Given the description of an element on the screen output the (x, y) to click on. 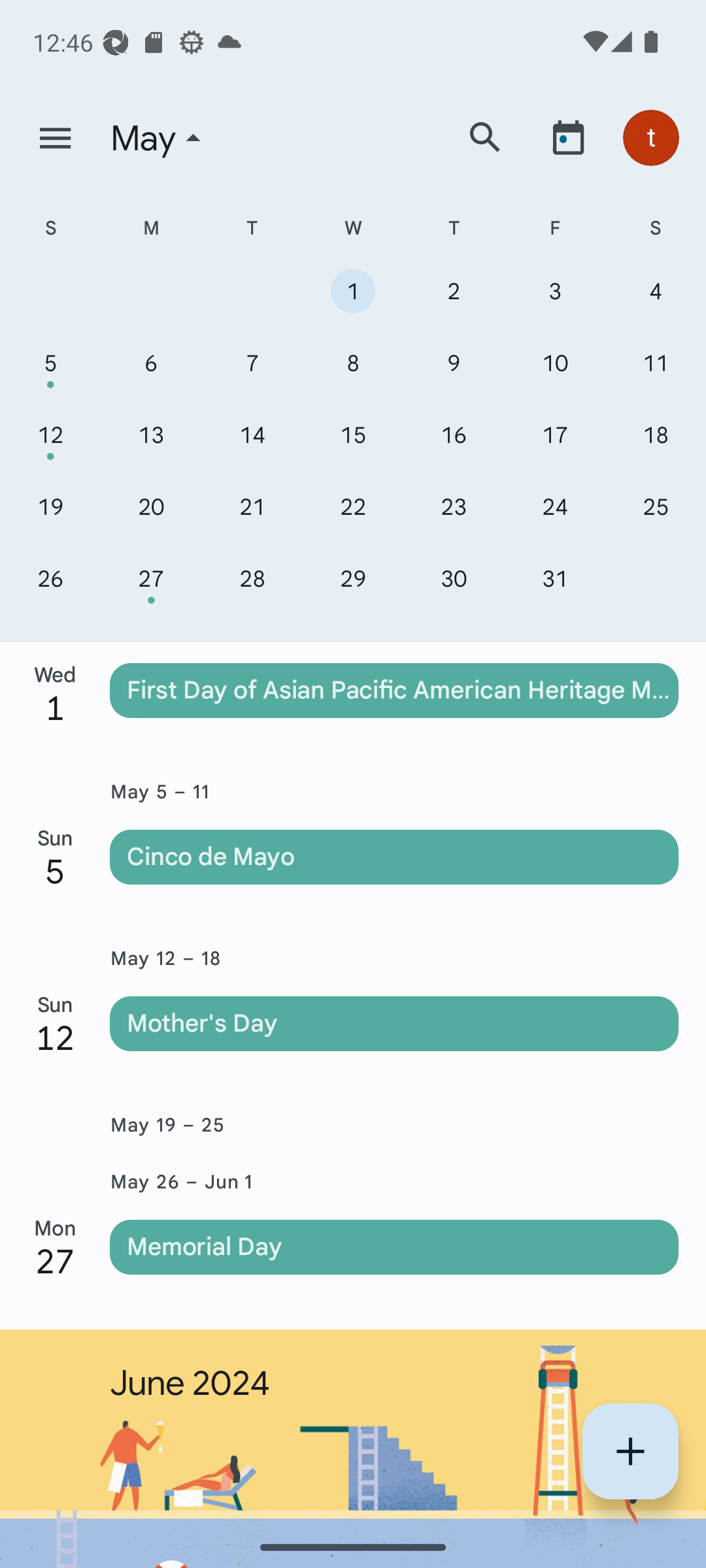
Show Calendar List and Settings drawer (55, 138)
May, Hide date picker May (270, 138)
Search (485, 137)
Jump to Today (567, 137)
Create new event and more (630, 1451)
